Given the description of an element on the screen output the (x, y) to click on. 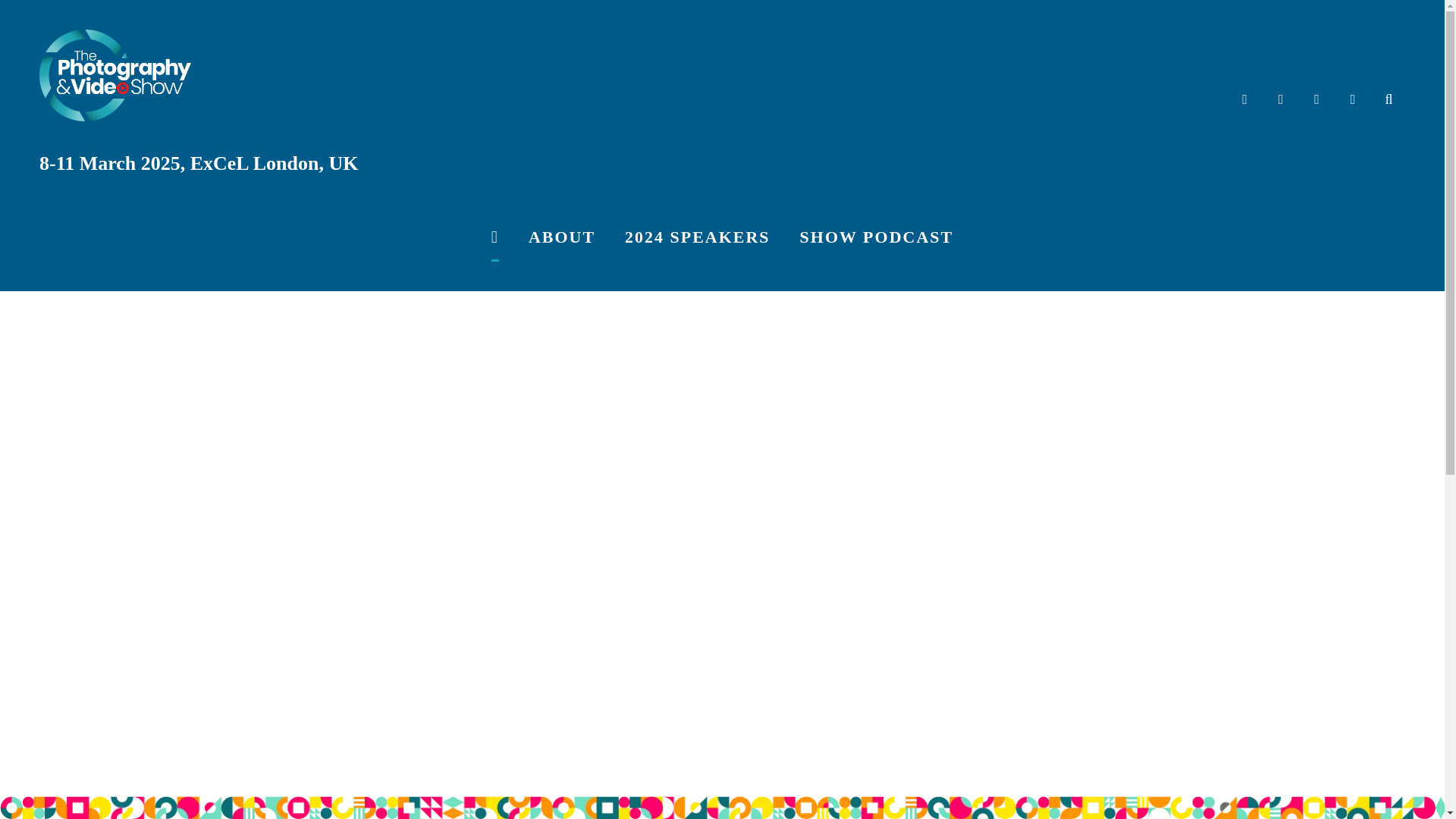
Instagram (1281, 99)
ABOUT (561, 237)
2024 SPEAKERS (697, 237)
Search (1389, 99)
Facebook (1244, 99)
YouTube (1316, 99)
SHOW PODCAST (876, 237)
Twitter (1352, 99)
